Given the description of an element on the screen output the (x, y) to click on. 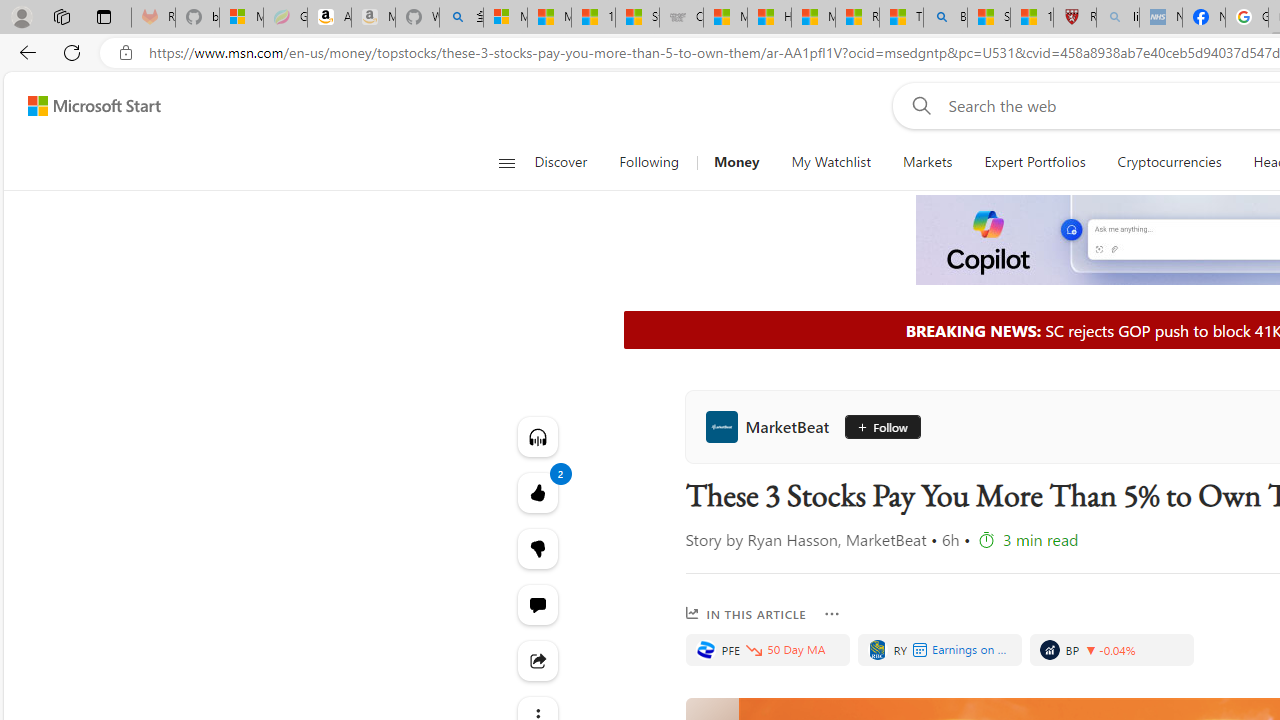
Markets (927, 162)
Cryptocurrencies (1168, 162)
MarketBeat (771, 426)
Expert Portfolios (1034, 162)
Open navigation menu (506, 162)
ROYAL BANK OF CANADA (877, 650)
Class: button-glyph (505, 162)
